Given the description of an element on the screen output the (x, y) to click on. 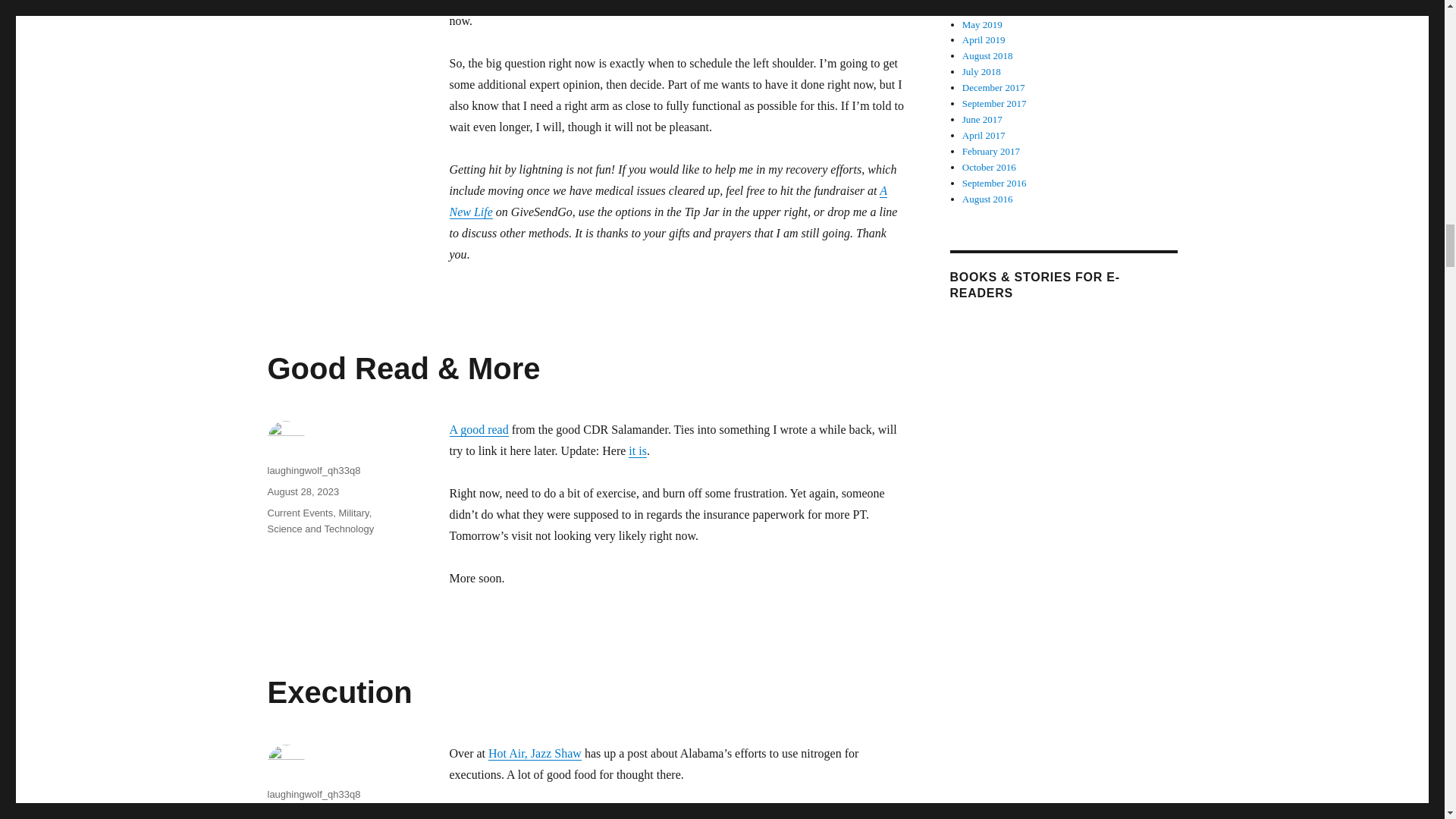
it is (637, 450)
A good read (478, 429)
Military (352, 512)
A New Life (667, 201)
Execution (339, 692)
Current Events (299, 512)
Hot Air, Jazz Shaw (533, 753)
August 28, 2023 (302, 491)
Science and Technology (320, 528)
August 28, 2023 (302, 814)
